Given the description of an element on the screen output the (x, y) to click on. 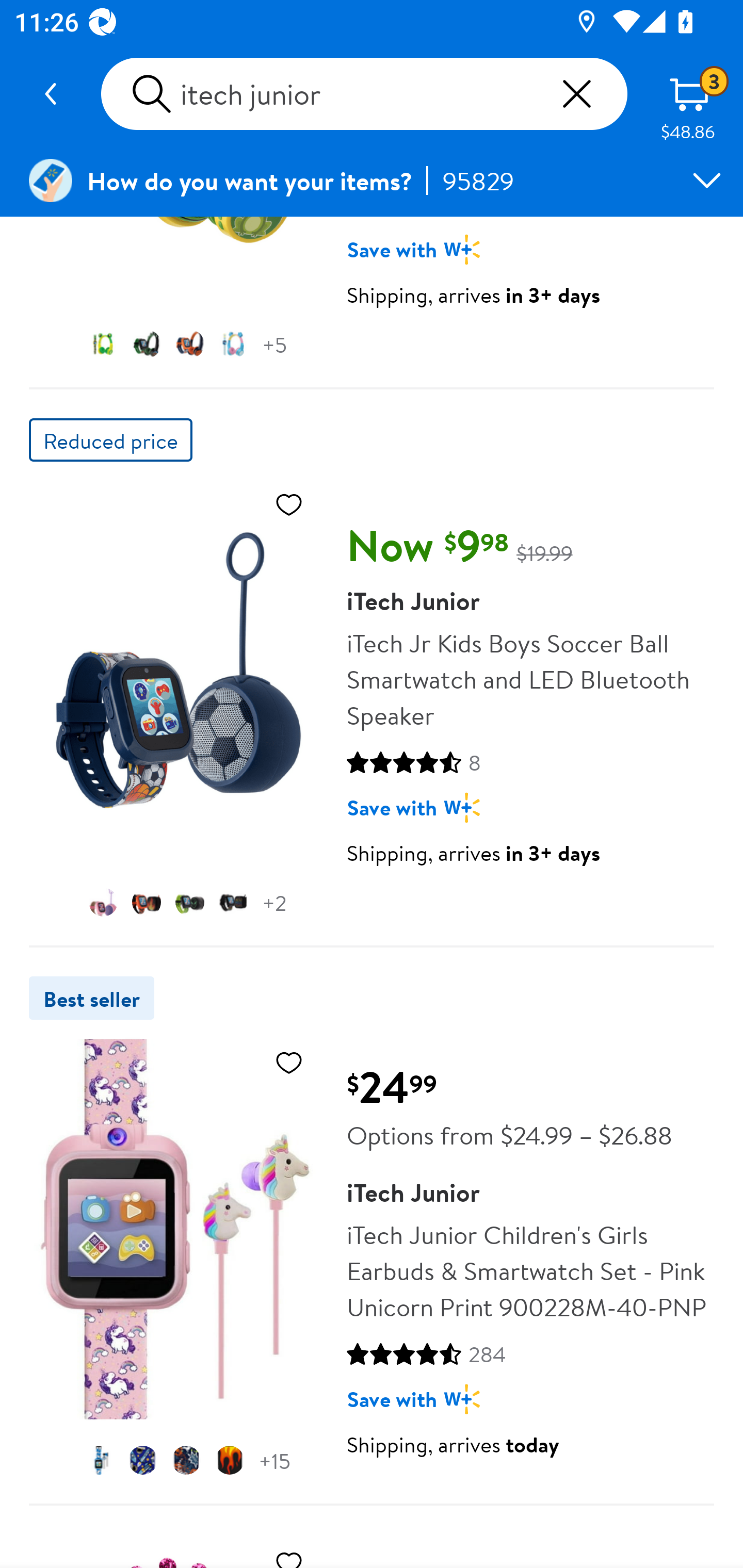
Navigate up (50, 93)
itech junior Clear Text (364, 94)
Clear Text (576, 94)
